Given the description of an element on the screen output the (x, y) to click on. 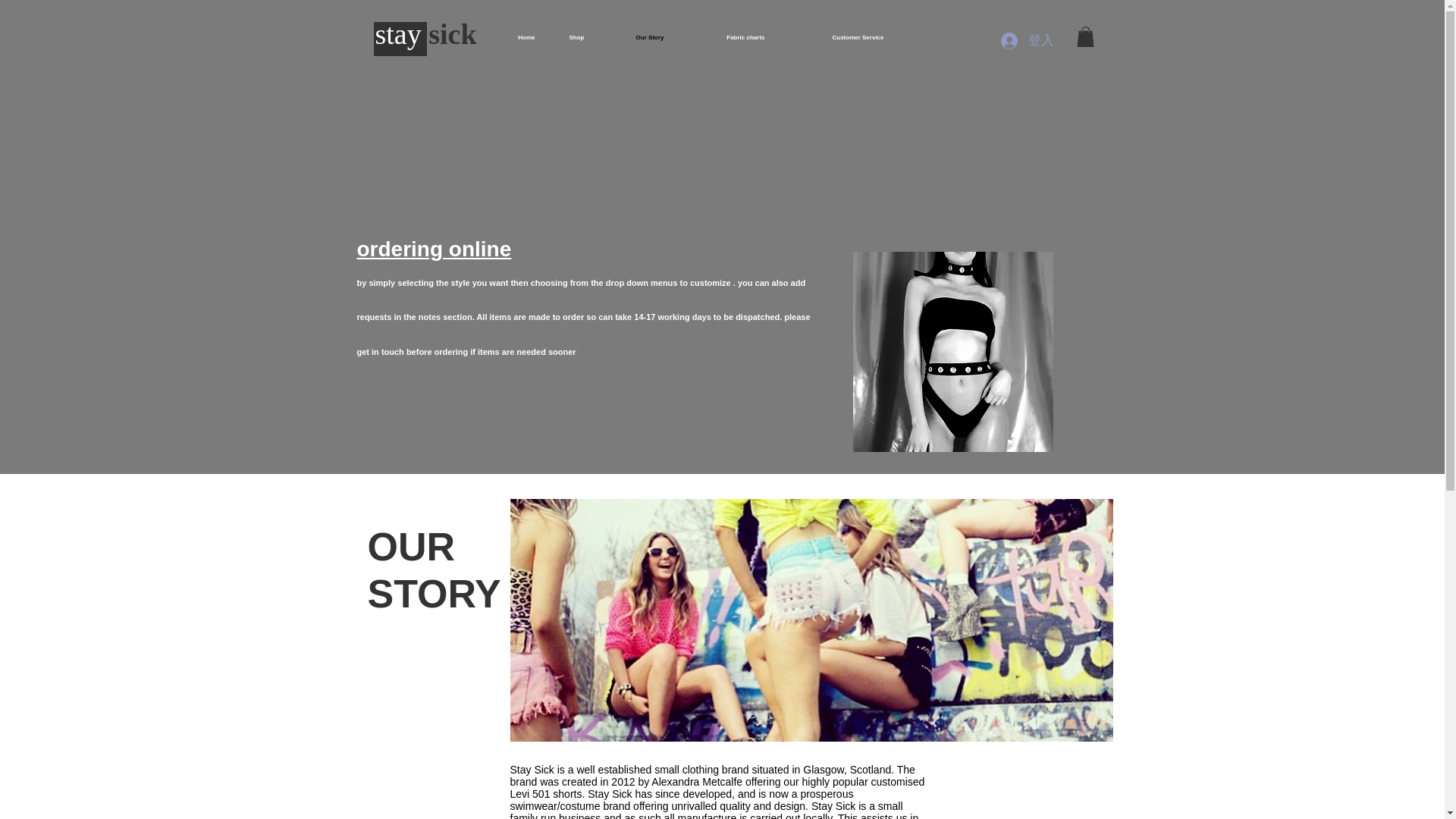
Fabric charts (725, 37)
Customer Service (835, 37)
Shop (570, 37)
Our Story (635, 37)
Home (521, 37)
sick (452, 33)
stay (401, 33)
